Given the description of an element on the screen output the (x, y) to click on. 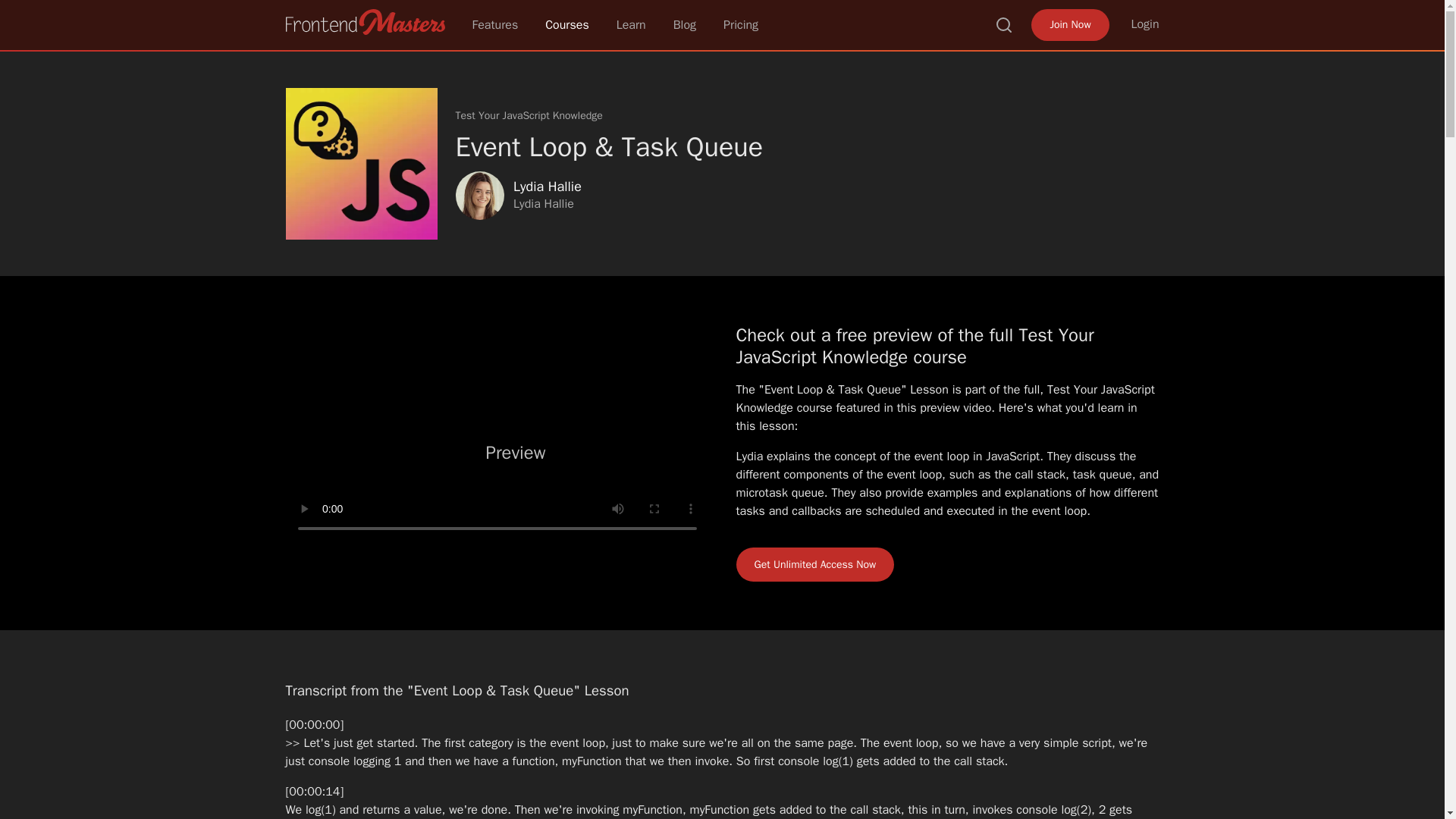
Search (1003, 24)
Lydia Hallie (546, 186)
Pricing (740, 24)
Blog (683, 24)
FrontendMasters (364, 22)
Features (494, 24)
Learn (630, 24)
Join Now (1069, 24)
Test Your JavaScript Knowledge (528, 115)
Lydia Hallie (478, 195)
Login (1144, 24)
Courses (566, 24)
Get Unlimited Access Now (814, 564)
